Given the description of an element on the screen output the (x, y) to click on. 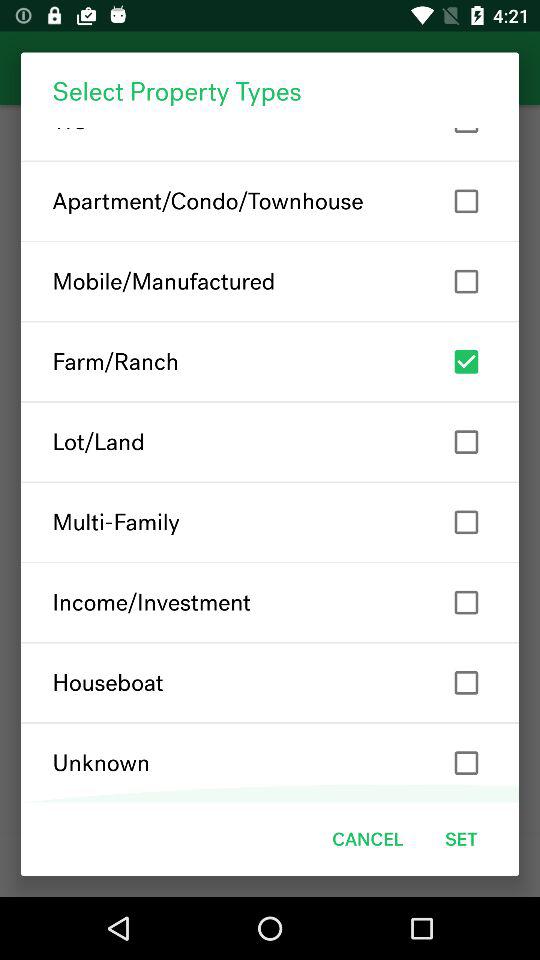
click icon above the income/investment icon (270, 522)
